Given the description of an element on the screen output the (x, y) to click on. 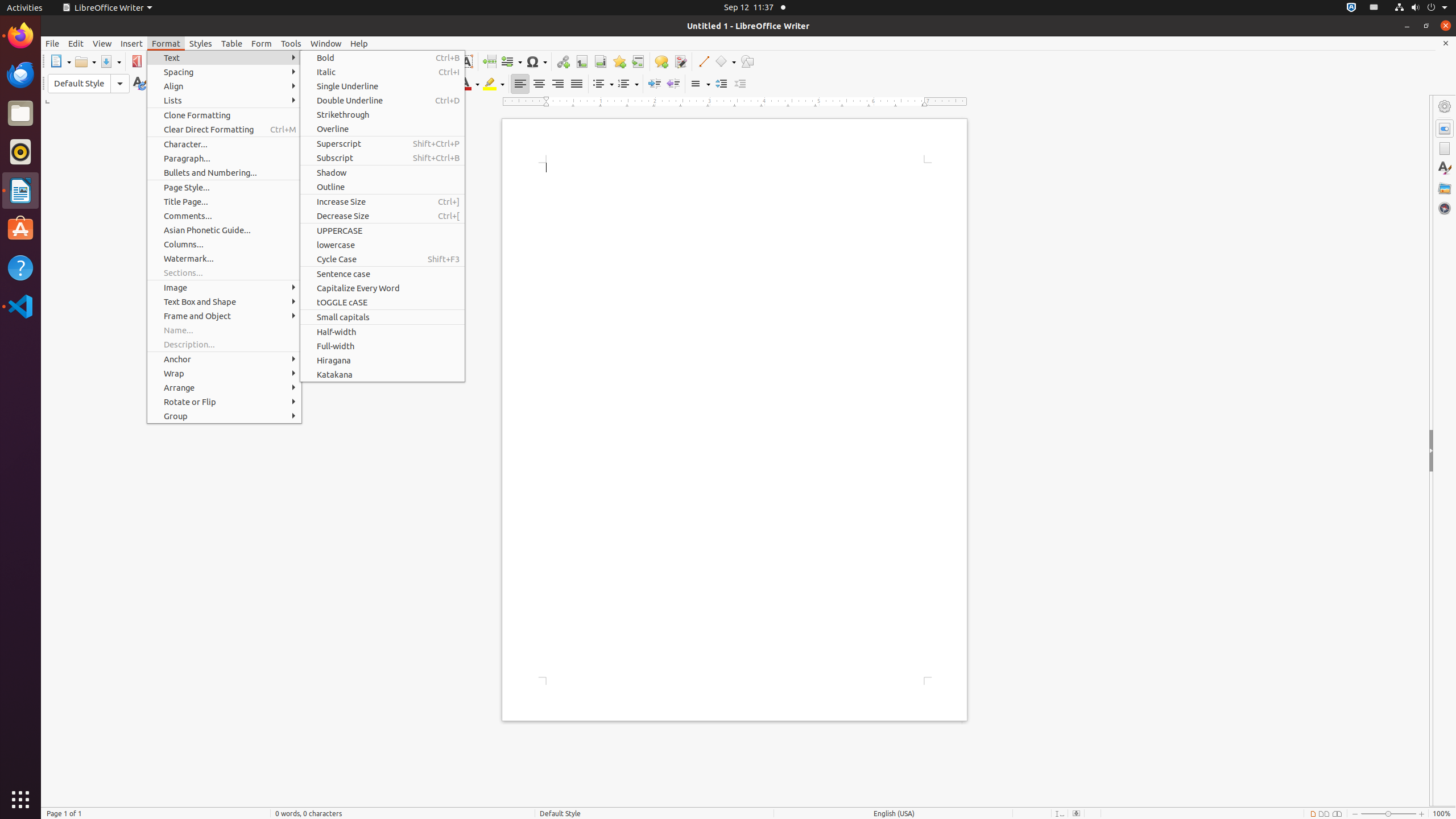
Tools Element type: menu (290, 43)
Field Element type: push-button (510, 61)
Capitalize Every Word Element type: menu-item (382, 287)
Gallery Element type: radio-button (1444, 188)
Sentence case Element type: menu-item (382, 273)
